Given the description of an element on the screen output the (x, y) to click on. 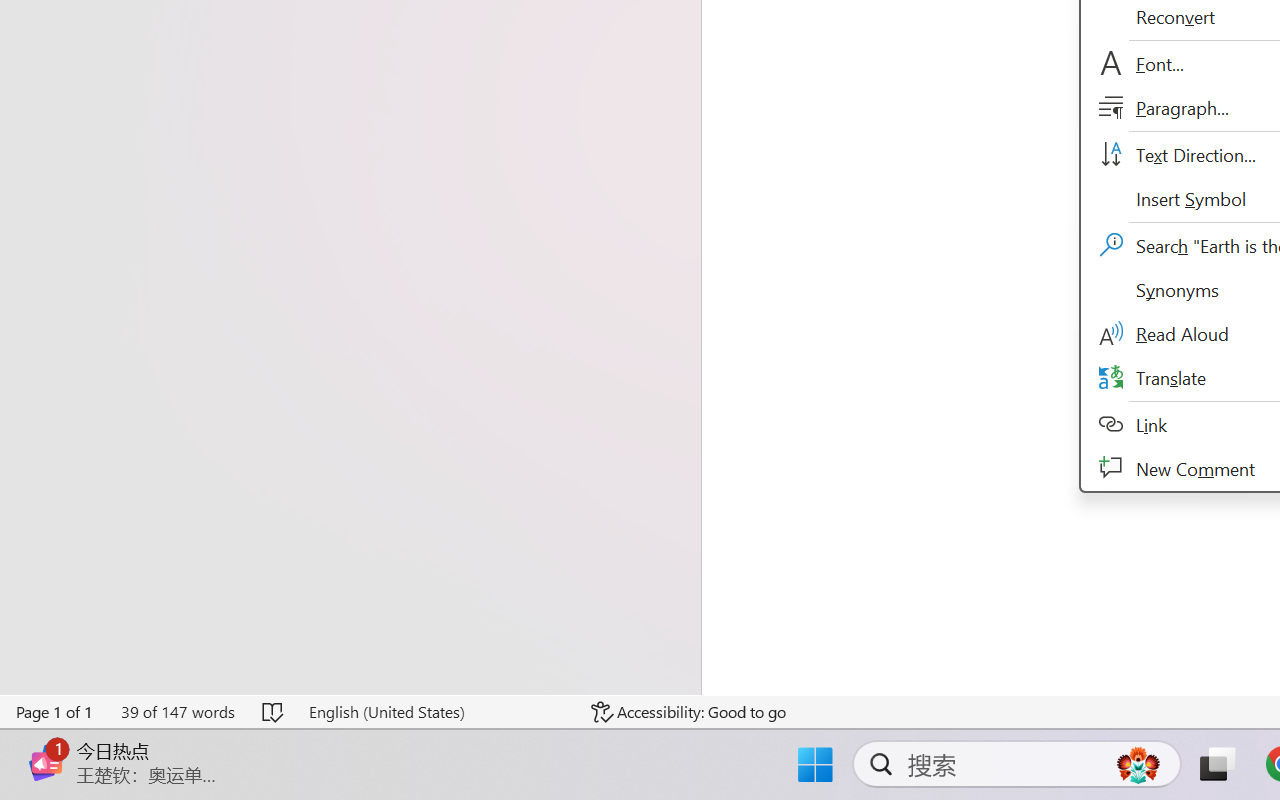
Page Number Page 1 of 1 (55, 712)
